Given the description of an element on the screen output the (x, y) to click on. 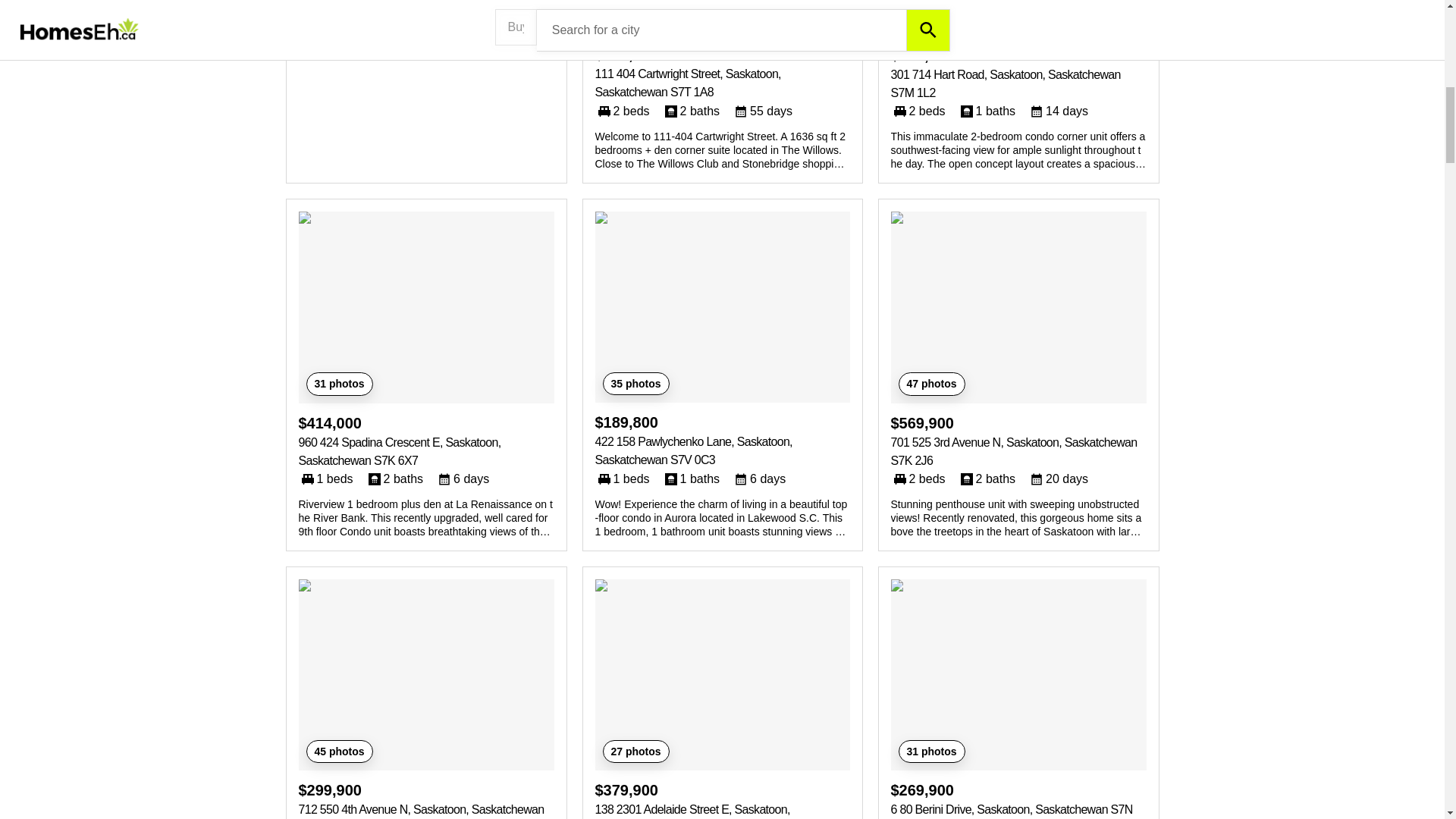
Advertisement (426, 28)
